Given the description of an element on the screen output the (x, y) to click on. 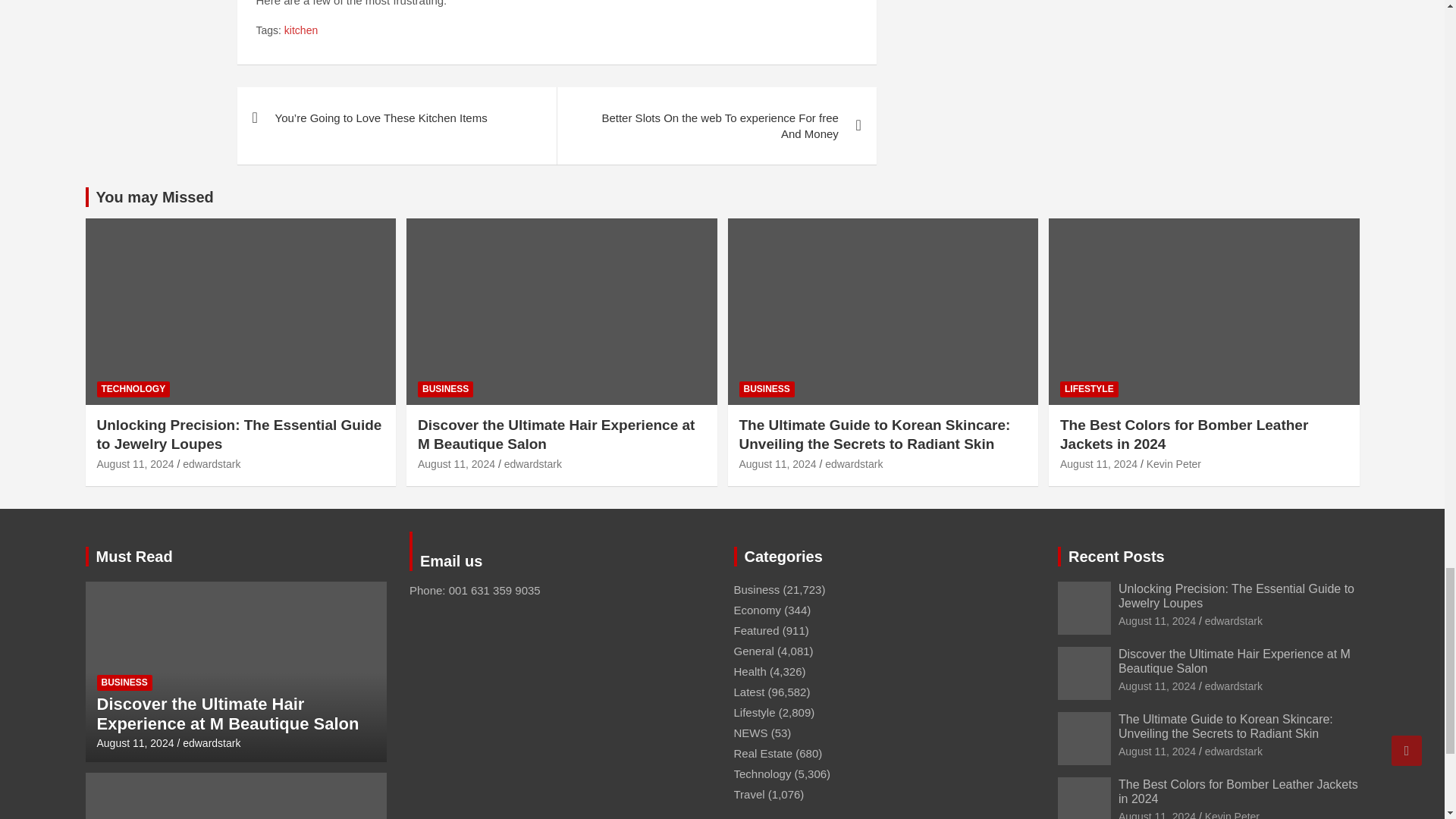
The Best Colors for Bomber Leather Jackets in 2024 (1098, 463)
Discover the Ultimate Hair Experience at M Beautique Salon (456, 463)
Discover the Ultimate Hair Experience at M Beautique Salon (135, 743)
Unlocking Precision: The Essential Guide to Jewelry Loupes (1156, 621)
Better Slots On the web To experience For free And Money (716, 125)
Unlocking Precision: The Essential Guide to Jewelry Loupes (135, 463)
kitchen (300, 30)
Discover the Ultimate Hair Experience at M Beautique Salon (1156, 686)
